Given the description of an element on the screen output the (x, y) to click on. 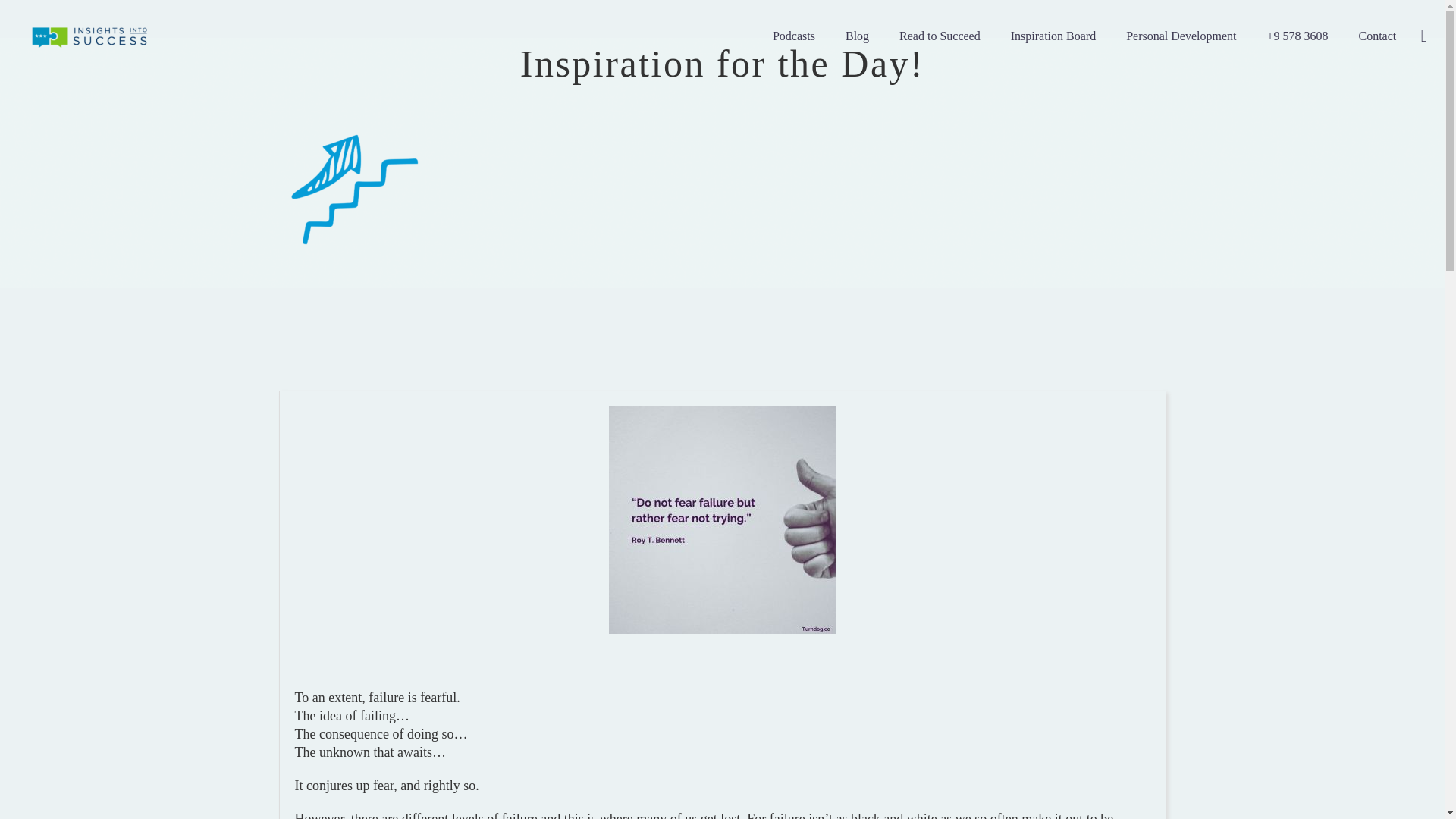
Read to Succeed (939, 36)
Contact (1376, 36)
Personal Development (1180, 36)
Inspiration Board (1052, 36)
Podcasts (793, 36)
Personal development 2 (354, 189)
